Given the description of an element on the screen output the (x, y) to click on. 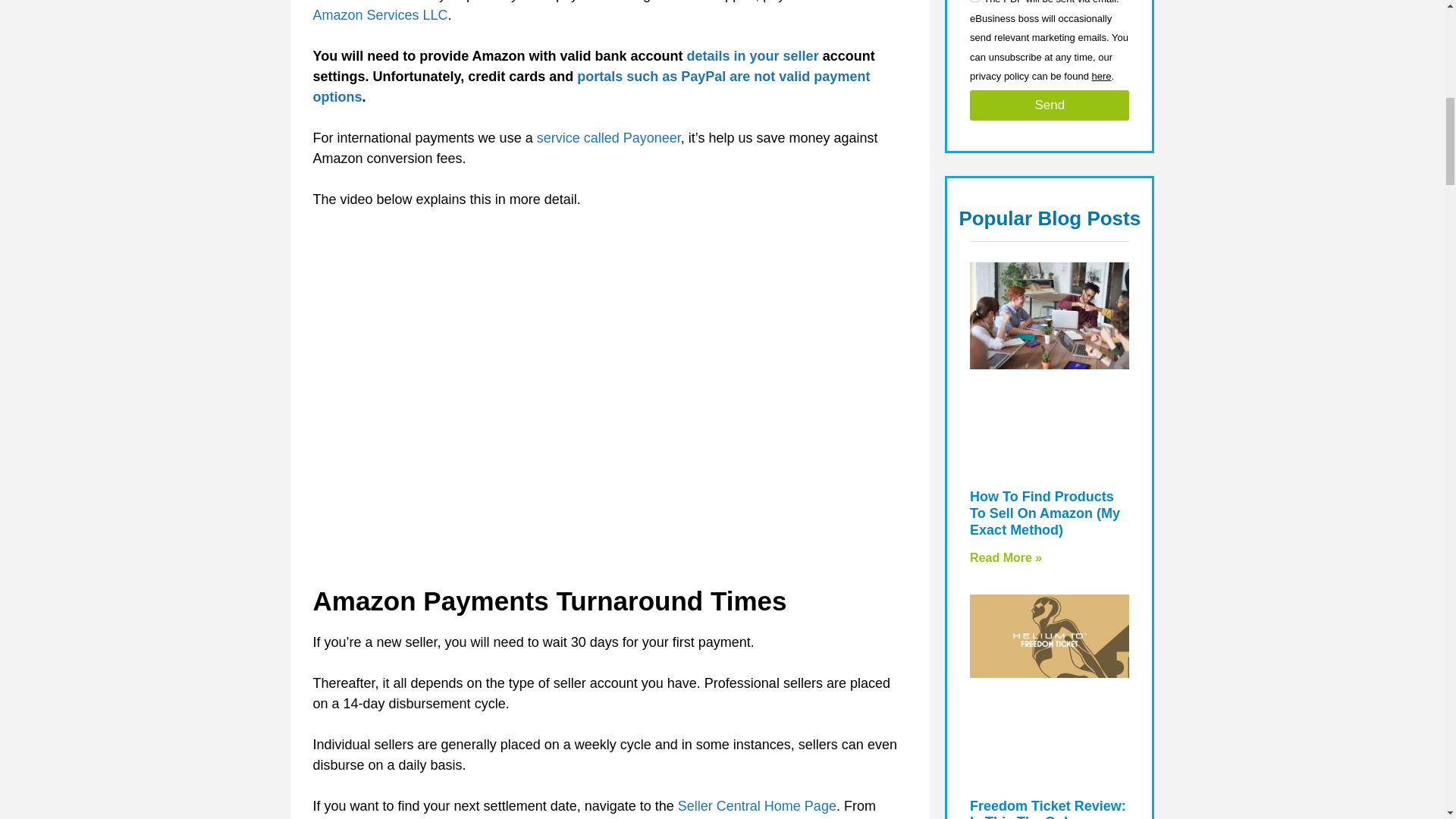
Send (1049, 105)
Seller Central Home Page (756, 806)
here (1102, 75)
portals such as PayPal are not valid payment options (591, 86)
details in your seller (752, 55)
Amazon Services LLC (379, 14)
service called Payoneer (609, 137)
